Given the description of an element on the screen output the (x, y) to click on. 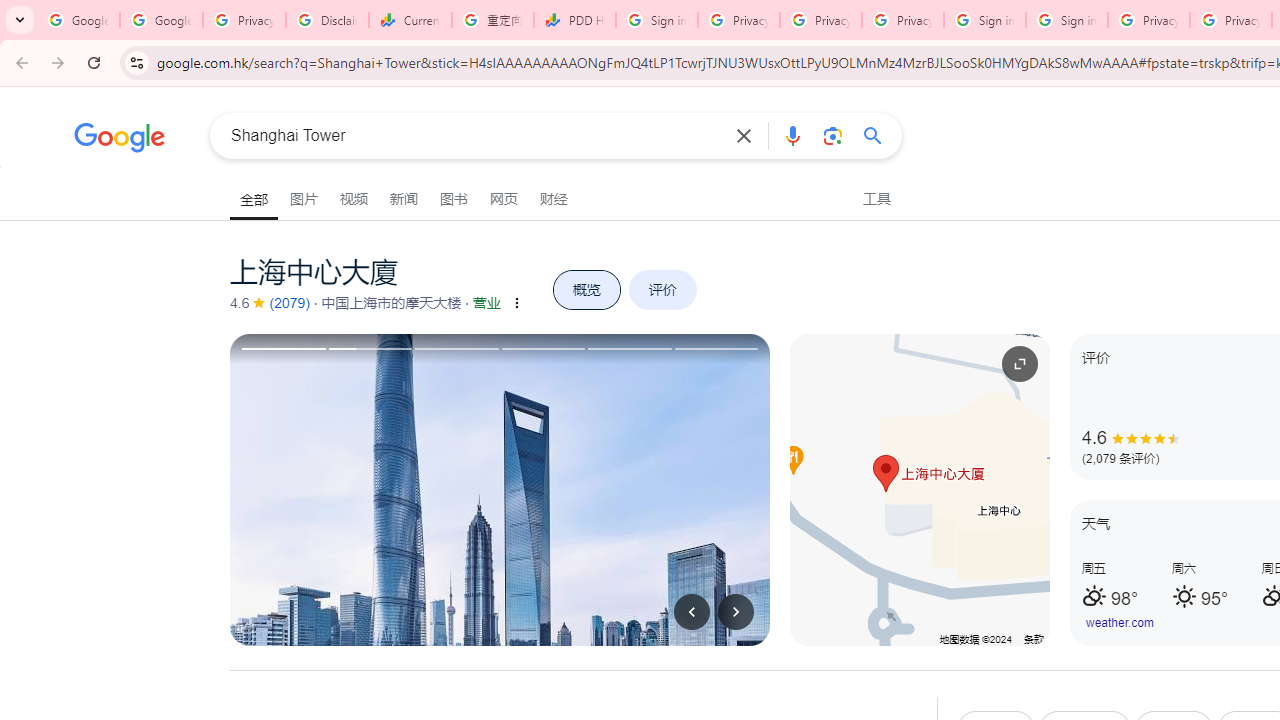
PDD Holdings Inc - ADR (PDD) Price & News - Google Finance (574, 20)
Google (120, 139)
Currencies - Google Finance (409, 20)
